Given the description of an element on the screen output the (x, y) to click on. 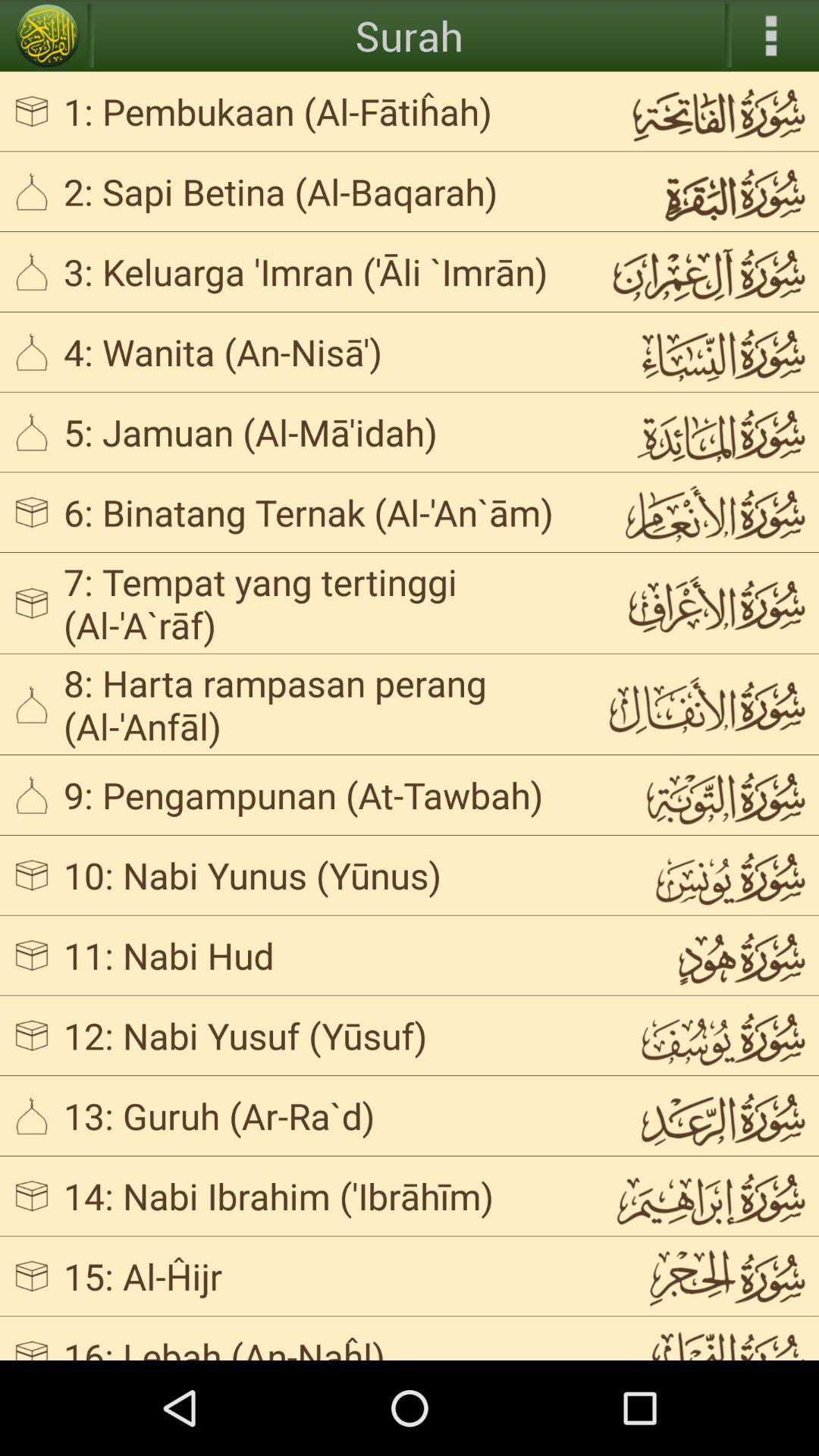
swipe until 13 guruh ar icon (322, 1115)
